Given the description of an element on the screen output the (x, y) to click on. 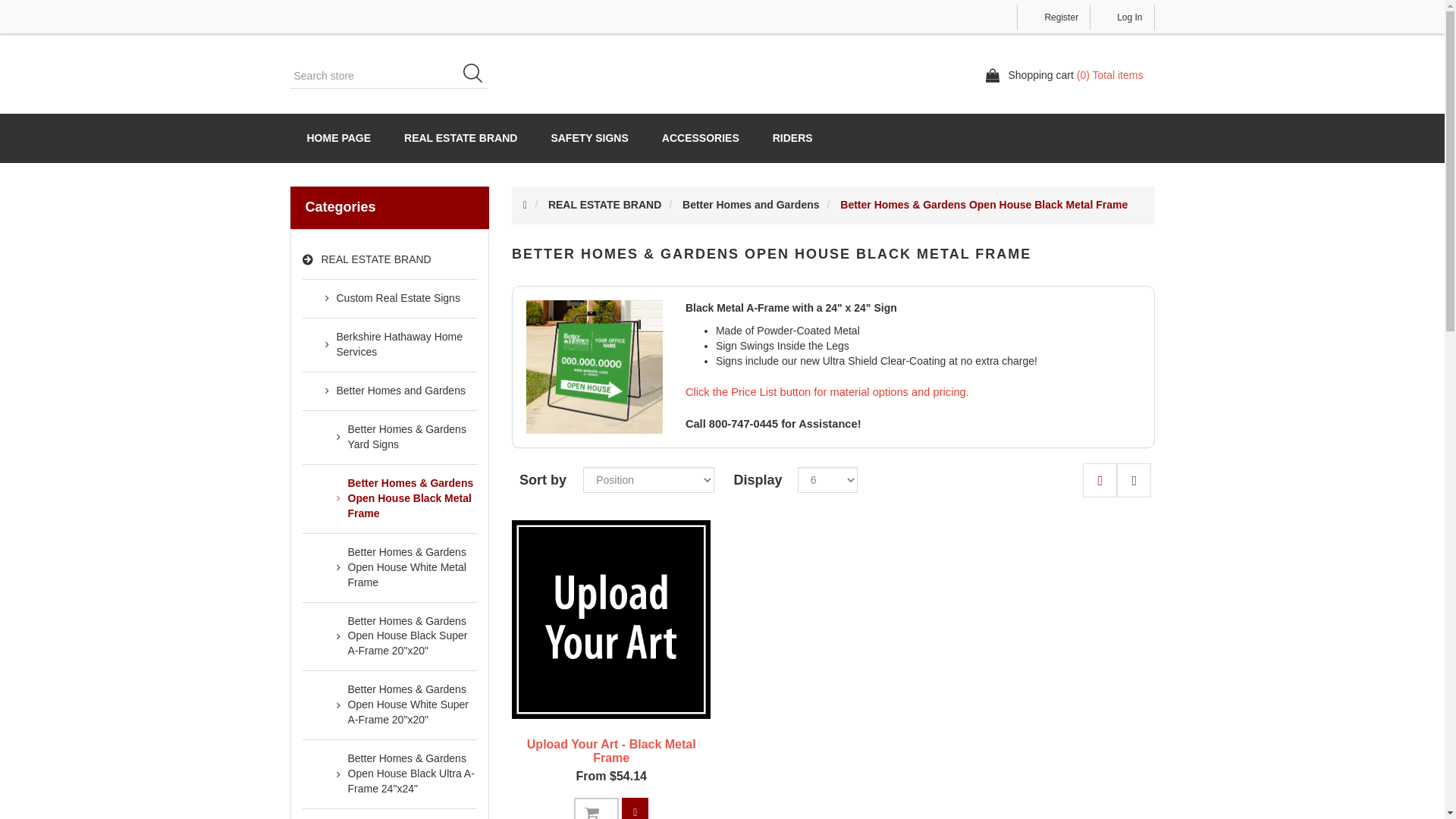
REAL ESTATE BRAND (460, 137)
Search (478, 75)
Show details for Upload Your Art - Black Metal Frame (611, 619)
Register (1053, 17)
Add to cart (595, 808)
REAL  ESTATE   BRAND (604, 204)
Grid (1099, 480)
List (1133, 480)
HOME PAGE (338, 137)
Log In (1122, 17)
Better Homes and Gardens (750, 204)
Price List (634, 808)
